Given the description of an element on the screen output the (x, y) to click on. 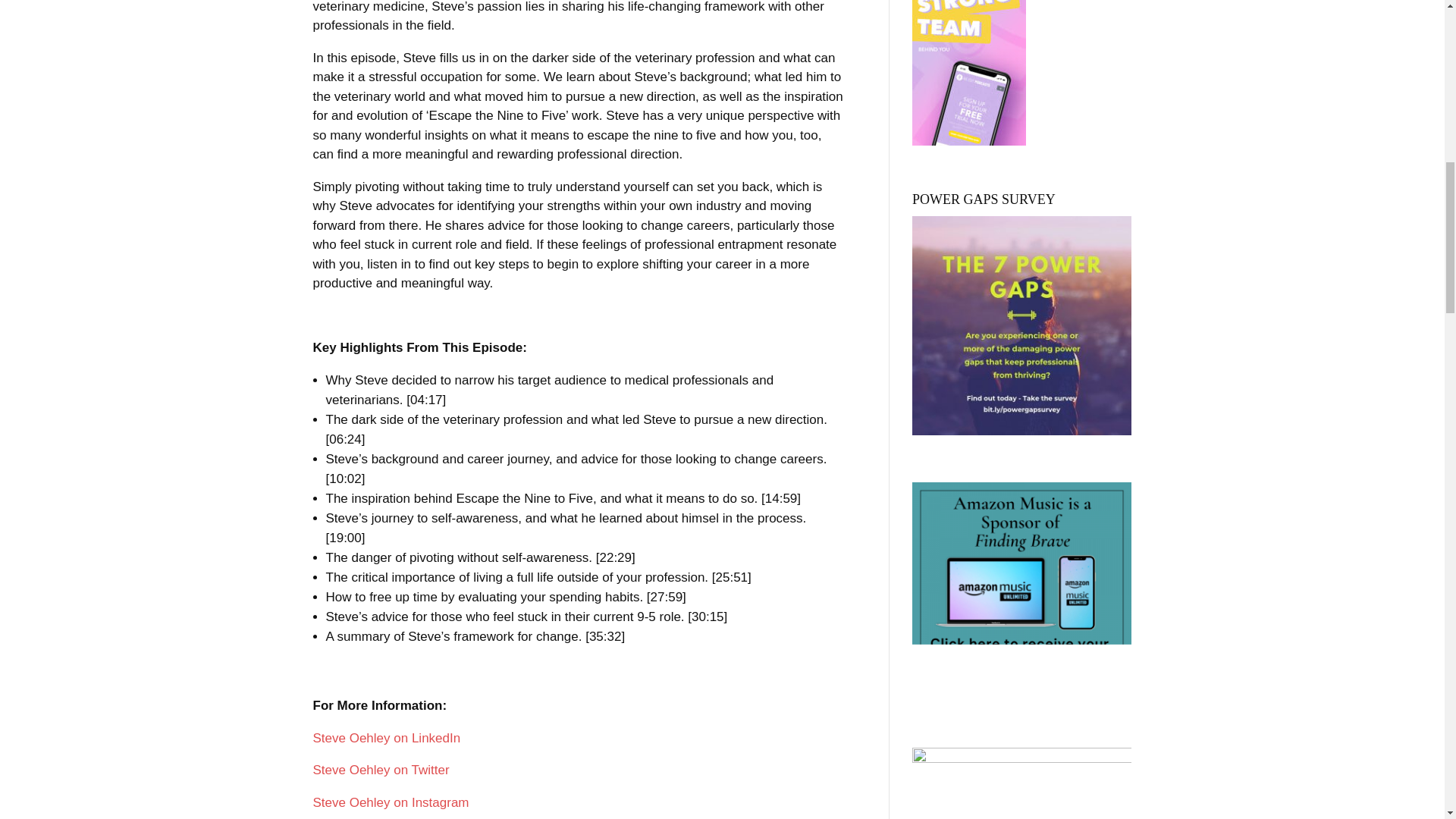
Steve Oehley on Instagram (390, 802)
Steve Oehley on LinkedIn (386, 738)
Steve Oehley on Twitter (380, 769)
